Given the description of an element on the screen output the (x, y) to click on. 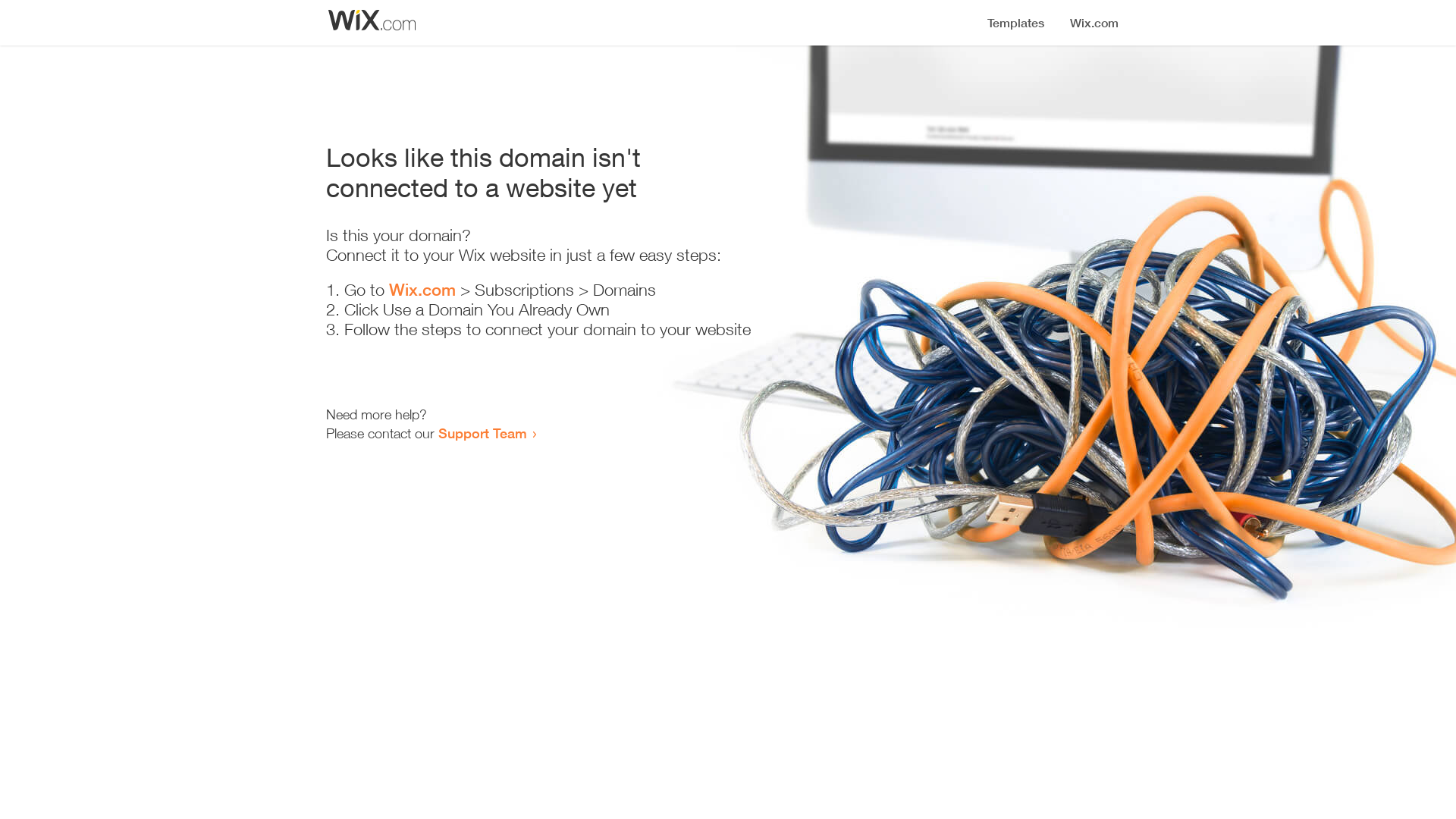
Support Team Element type: text (482, 432)
Wix.com Element type: text (422, 289)
